Given the description of an element on the screen output the (x, y) to click on. 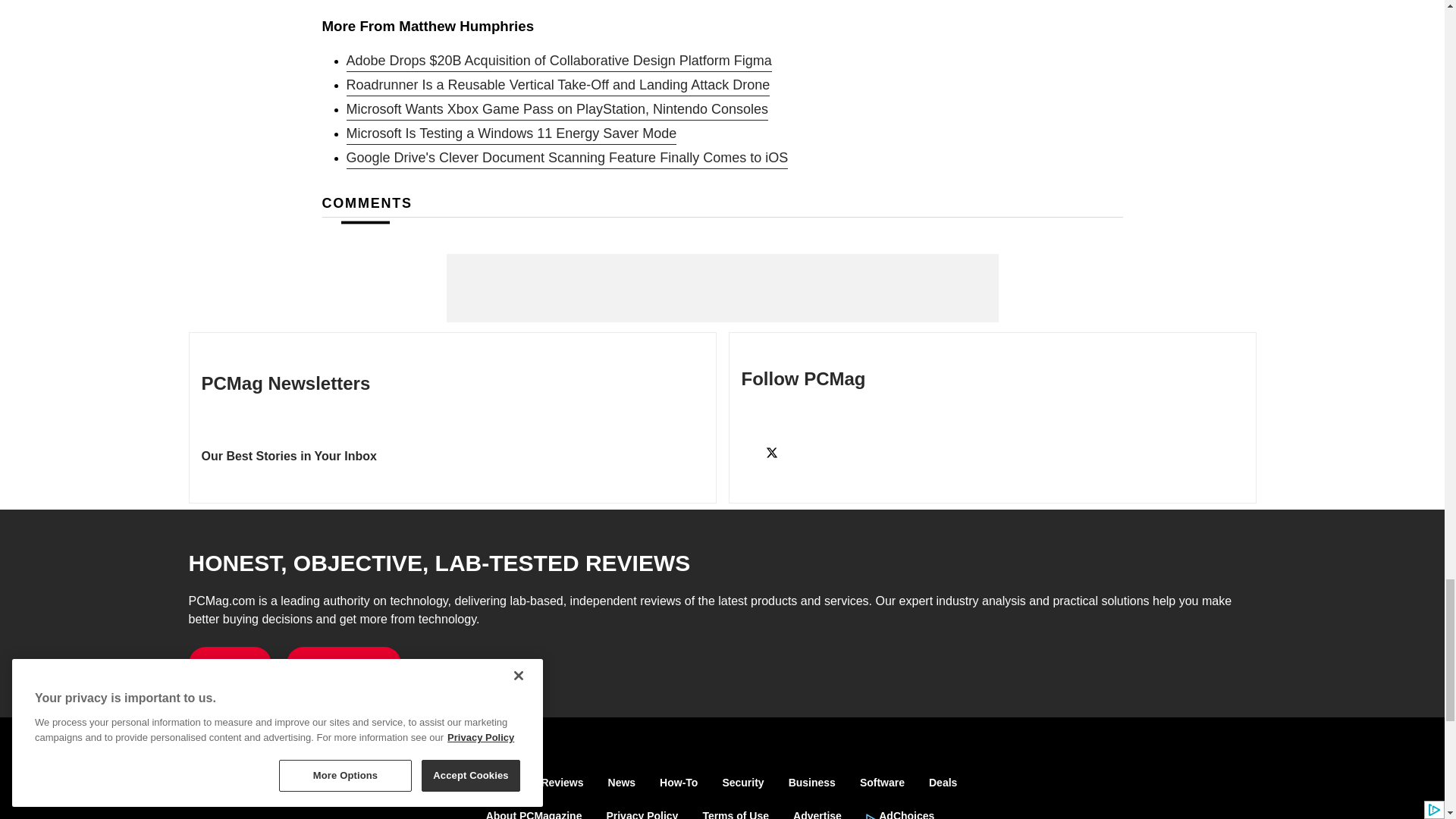
3rd party ad content (721, 287)
